Given the description of an element on the screen output the (x, y) to click on. 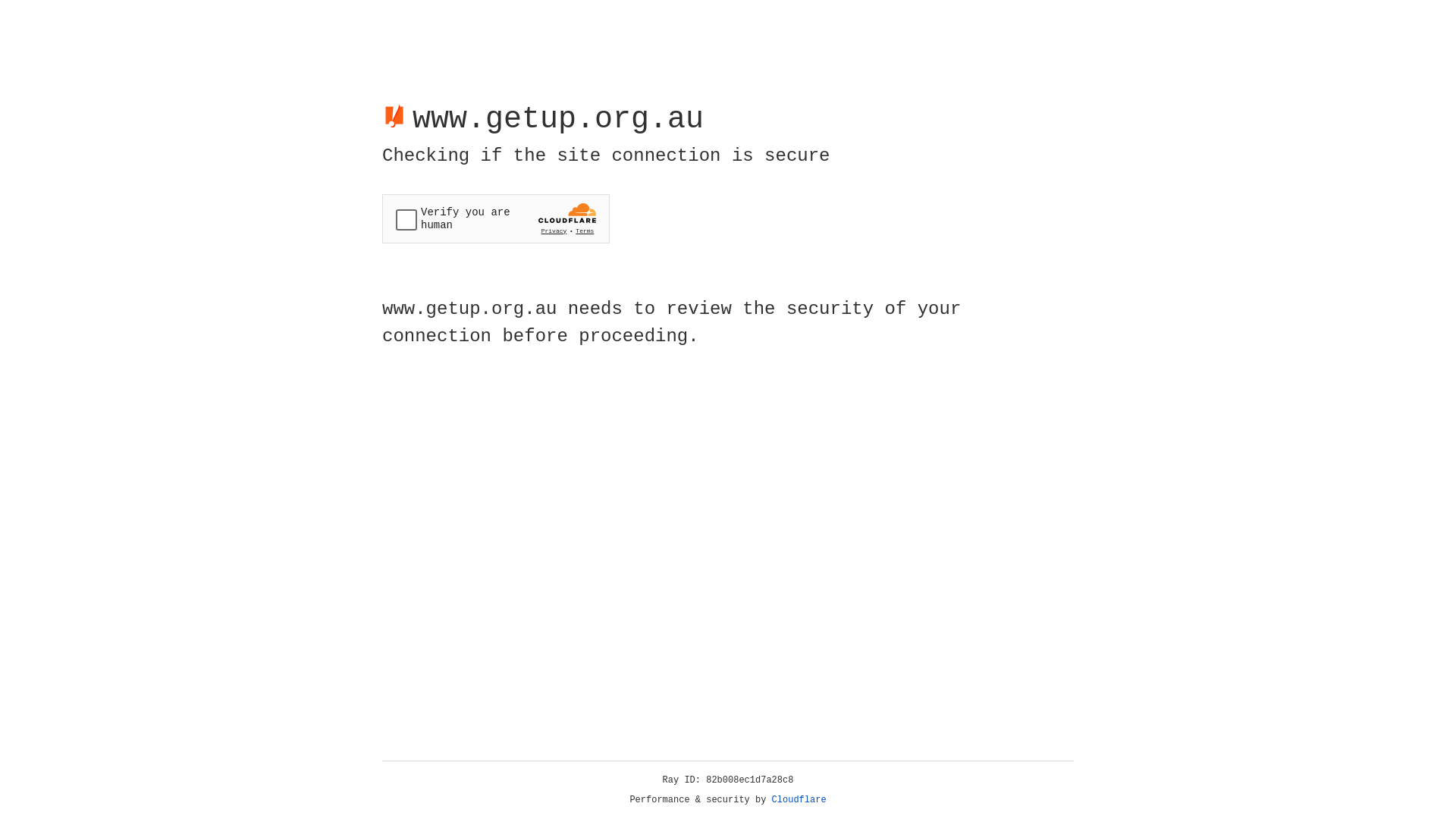
Widget containing a Cloudflare security challenge Element type: hover (495, 218)
Cloudflare Element type: text (798, 799)
